Given the description of an element on the screen output the (x, y) to click on. 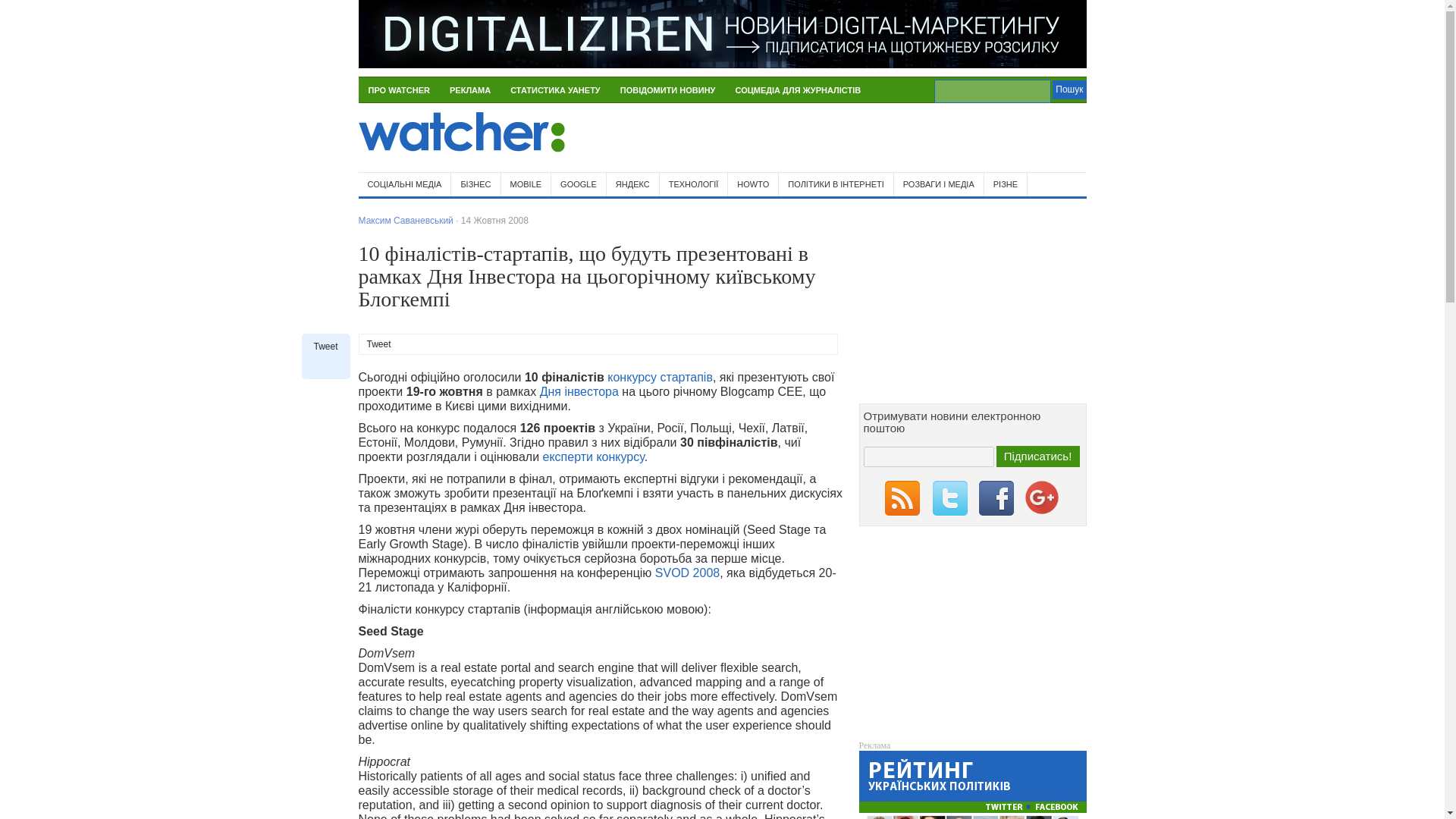
Advertisement (908, 137)
GOOGLE (579, 184)
MOBILE (525, 184)
